Given the description of an element on the screen output the (x, y) to click on. 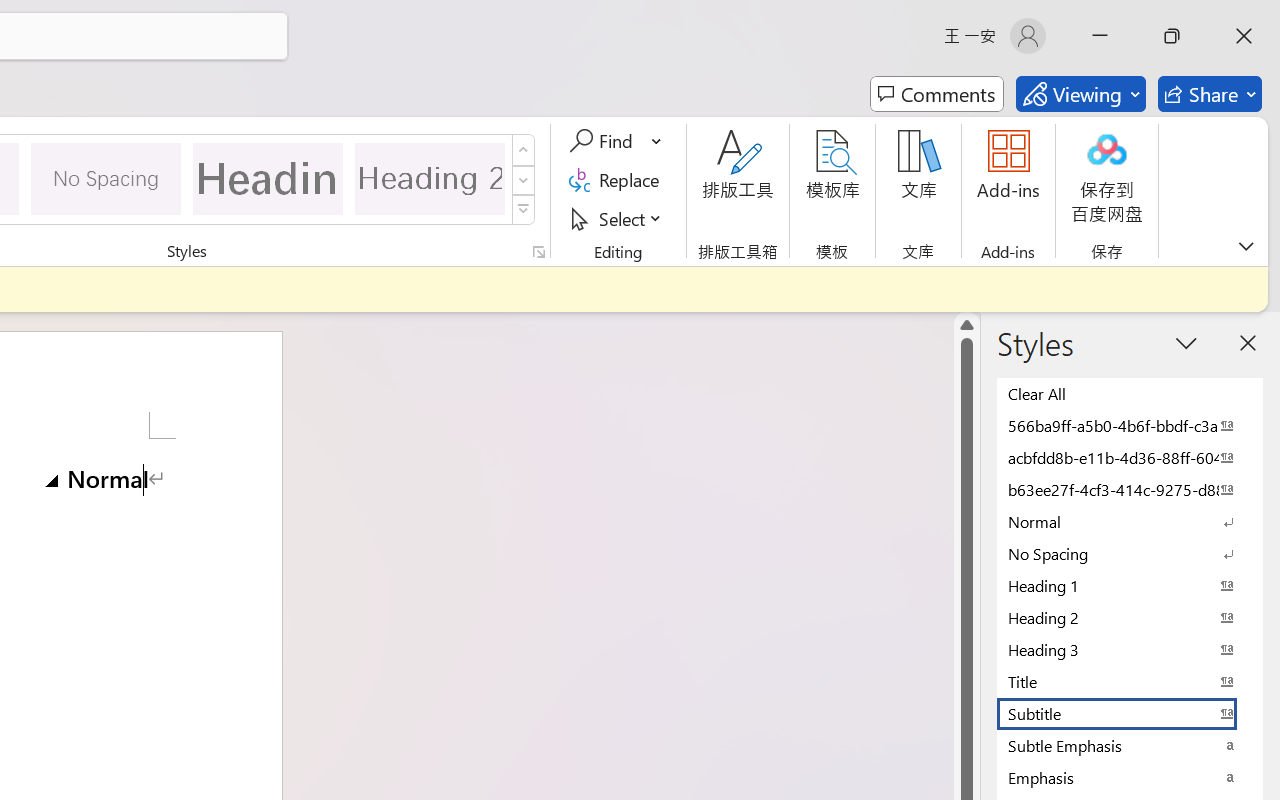
Line up (966, 324)
Row Down (523, 180)
Styles... (538, 252)
Heading 3 (1130, 649)
Styles (523, 209)
Normal (1130, 521)
Subtle Emphasis (1130, 745)
Task Pane Options (1186, 343)
Emphasis (1130, 777)
